Given the description of an element on the screen output the (x, y) to click on. 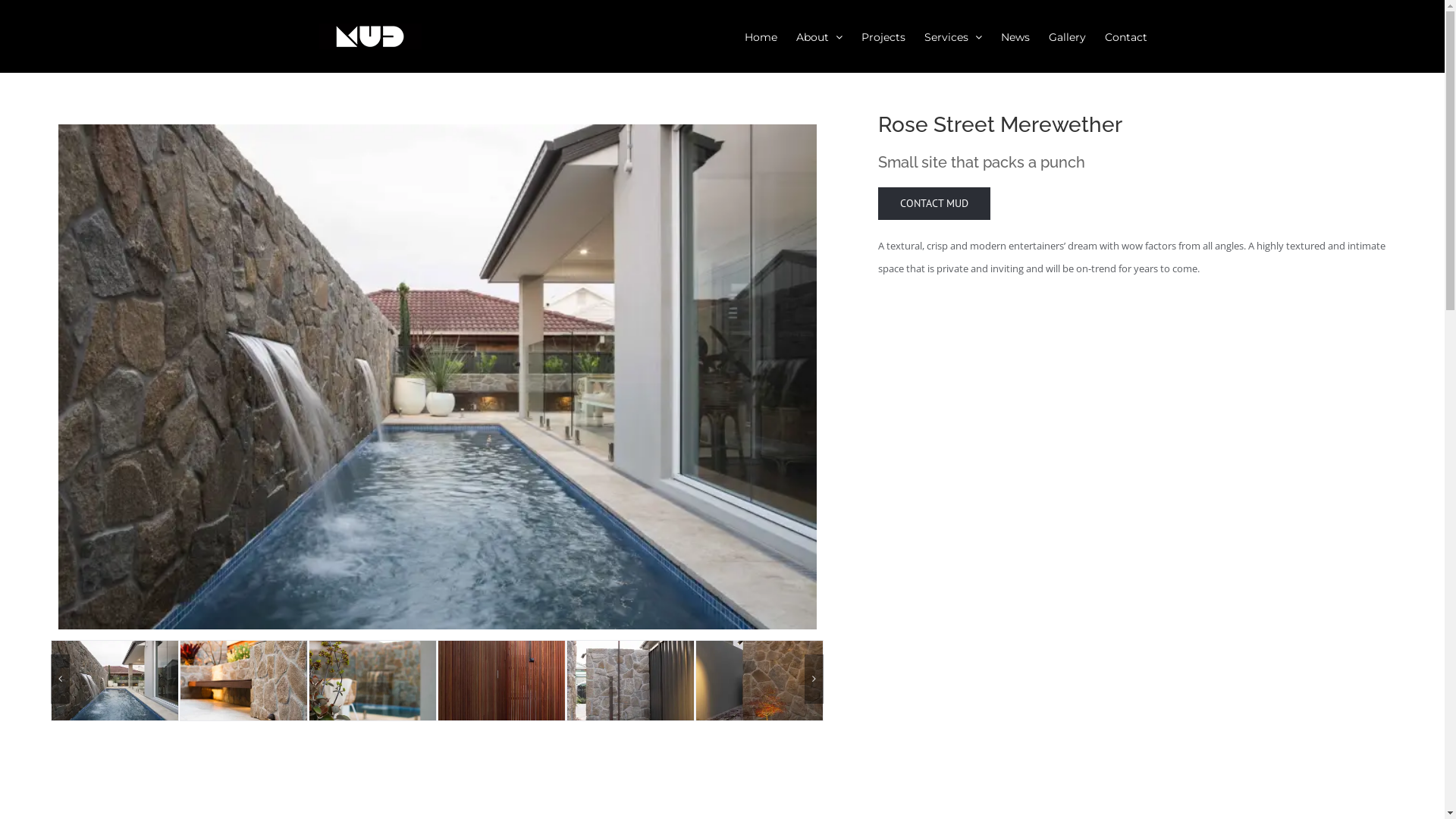
Services Element type: text (952, 36)
News Element type: text (1015, 36)
Projects Element type: text (883, 36)
CONTACT MUD Element type: text (934, 203)
About Element type: text (819, 36)
Home Element type: text (760, 36)
Gallery Element type: text (1066, 36)
Contact Element type: text (1125, 36)
